Given the description of an element on the screen output the (x, y) to click on. 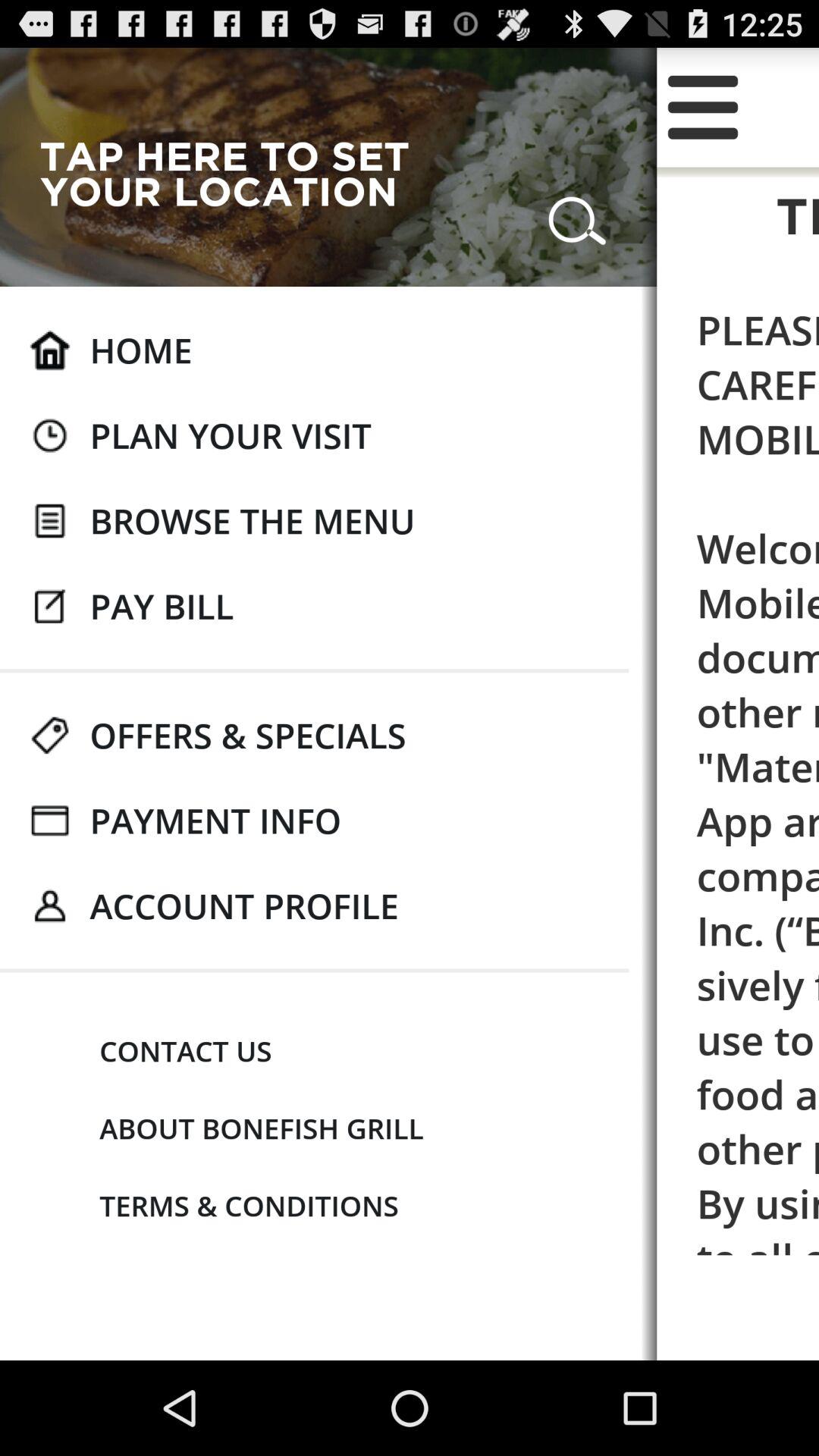
choose icon above the account profile (215, 820)
